Given the description of an element on the screen output the (x, y) to click on. 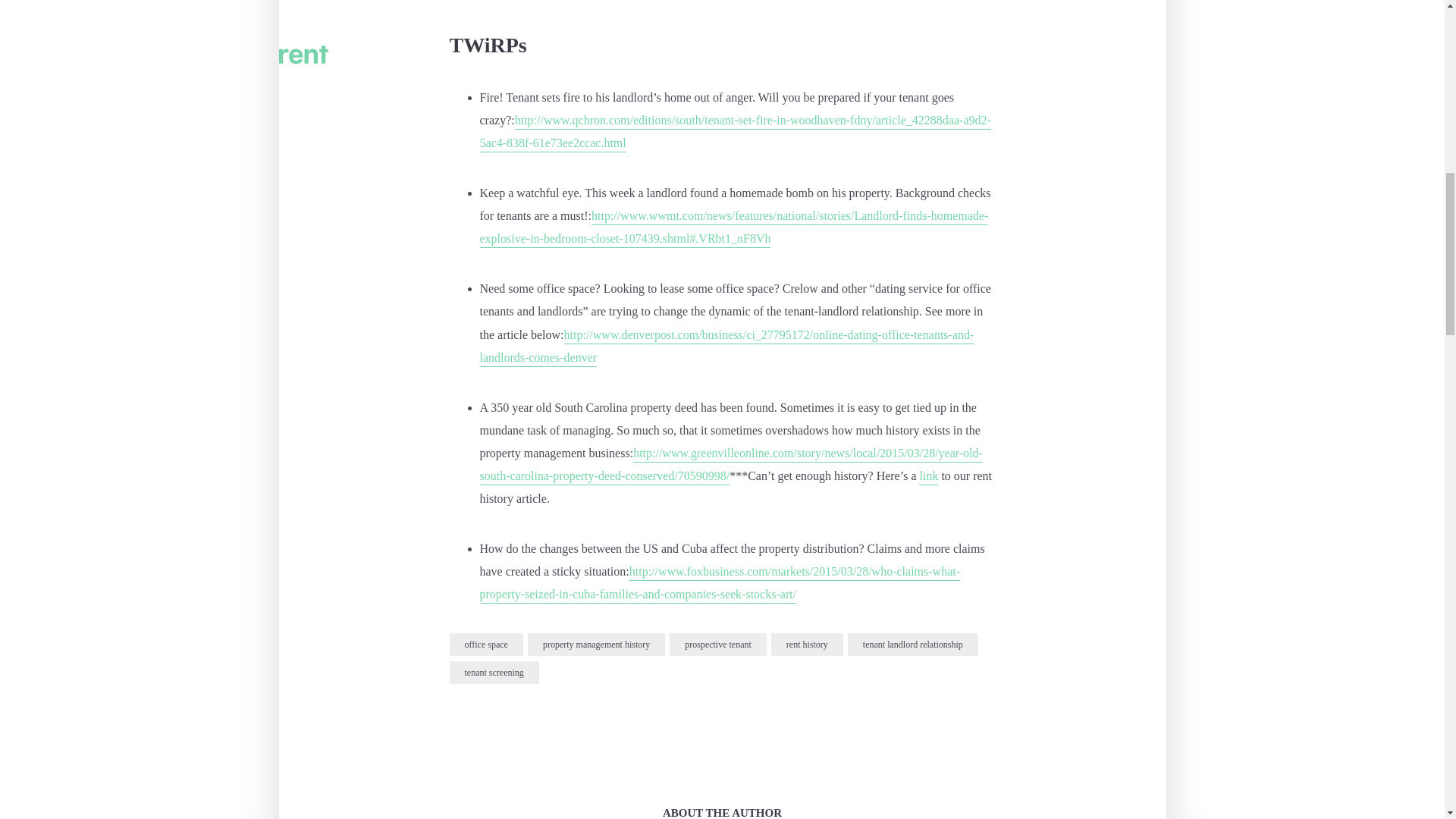
prospective tenant (718, 644)
tenant screening (493, 671)
property management history (596, 644)
rent history (807, 644)
tenant landlord relationship (912, 644)
link (927, 477)
office space (485, 644)
